Given the description of an element on the screen output the (x, y) to click on. 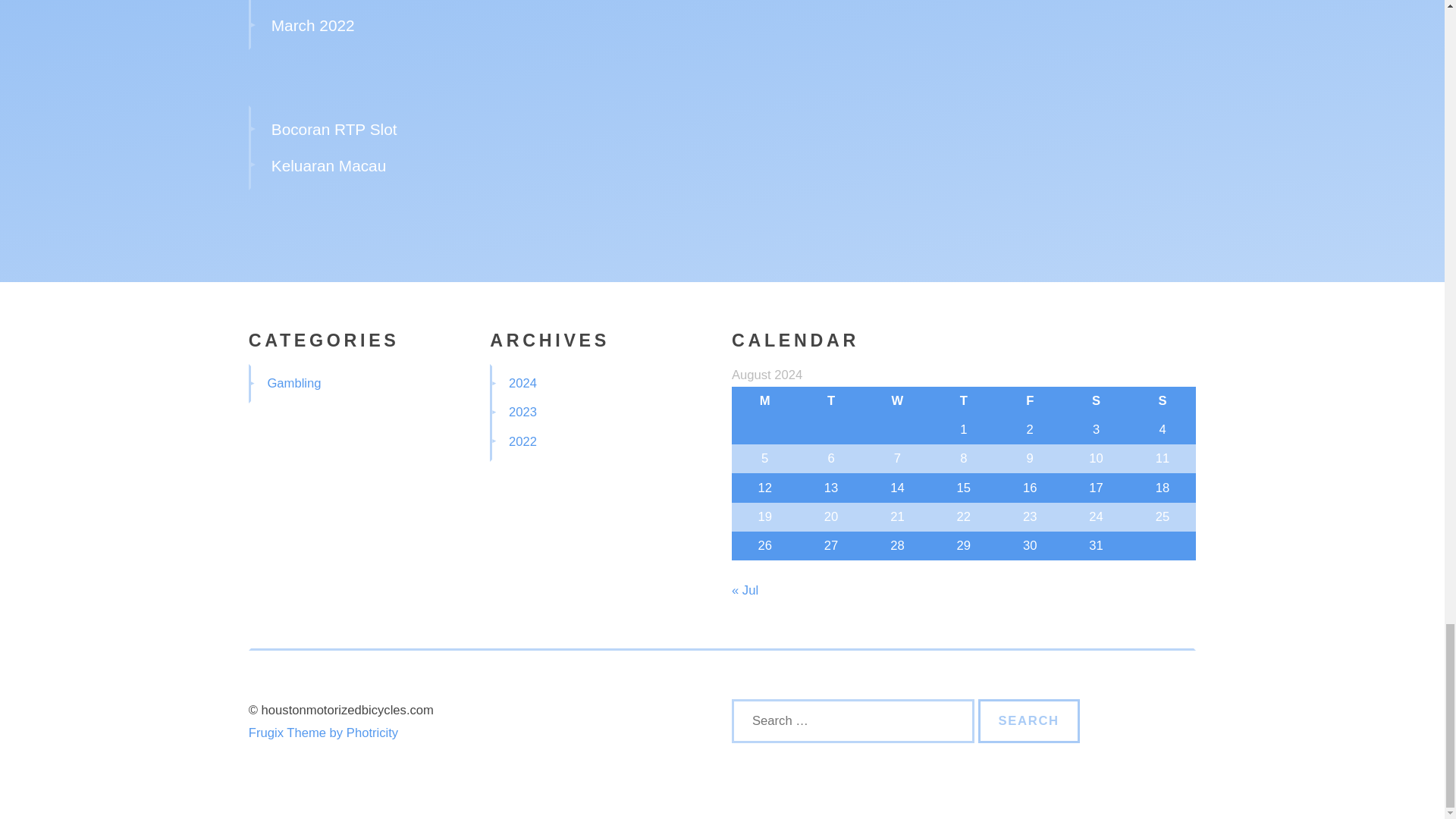
Thursday (962, 400)
Saturday (1095, 400)
Friday (1029, 400)
Search (1029, 720)
Search (1029, 720)
Monday (764, 400)
Sunday (1162, 400)
Wednesday (897, 400)
Tuesday (830, 400)
